Given the description of an element on the screen output the (x, y) to click on. 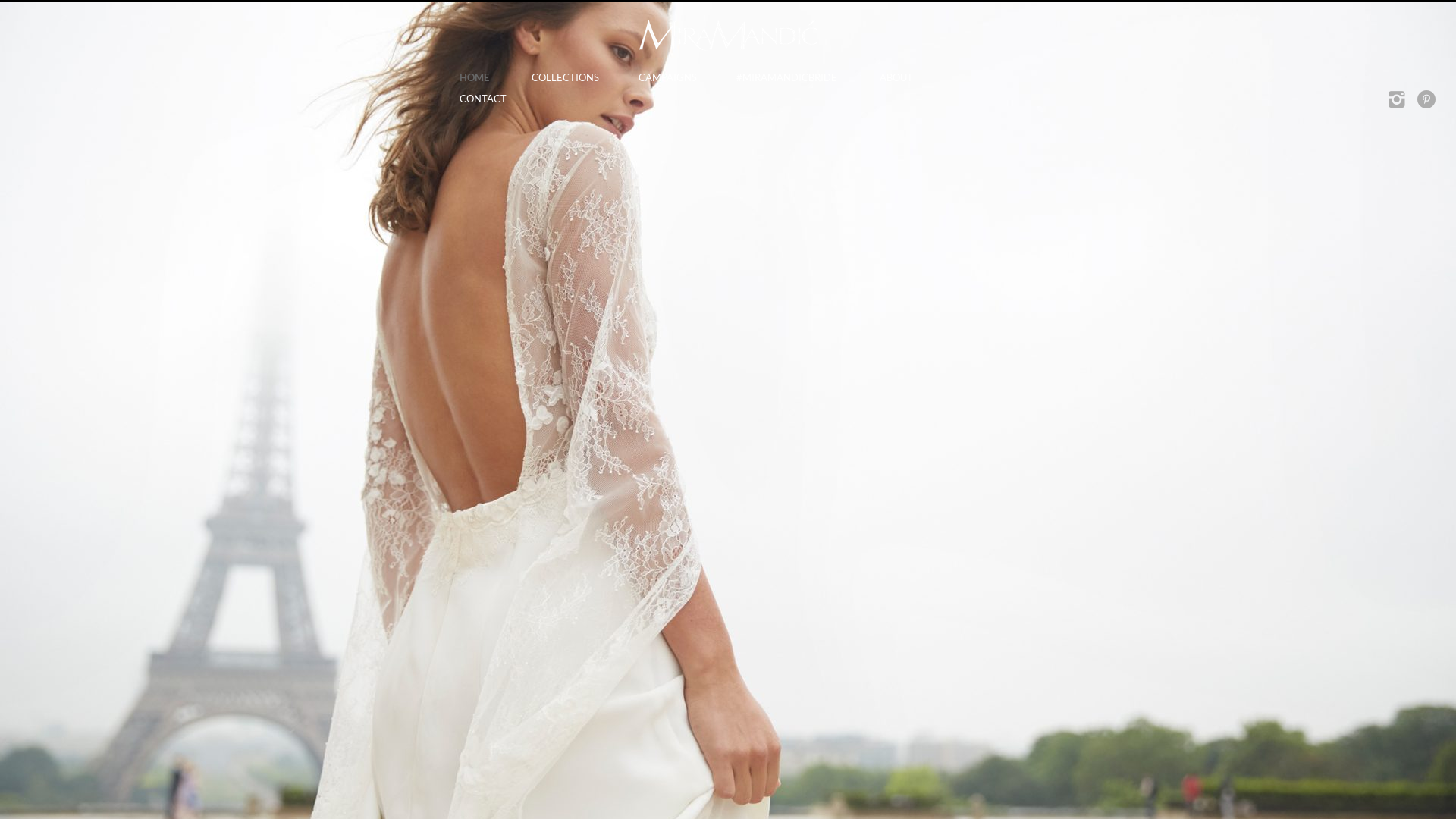
Mira Mandic Element type: hover (727, 36)
Connect on Instagram Element type: hover (1397, 99)
COLLECTIONS Element type: text (562, 78)
HOME Element type: text (474, 78)
Connect on Pinterest Element type: hover (1426, 99)
#MIRAMANDICBRIDE Element type: text (785, 78)
CAMPAIGNS Element type: text (665, 78)
ABOUT Element type: text (896, 78)
CONTACT Element type: text (481, 99)
